Given the description of an element on the screen output the (x, y) to click on. 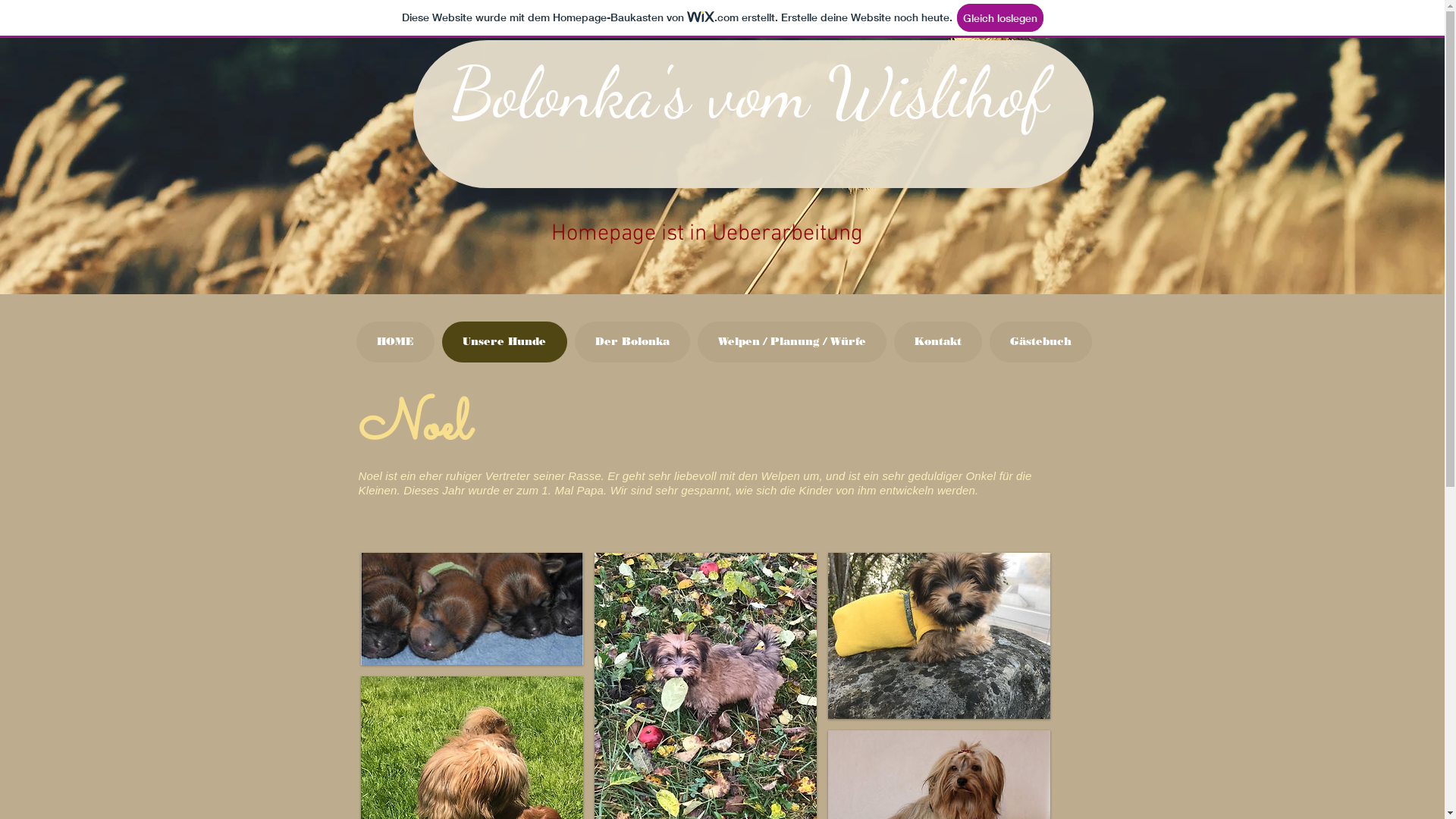
Kontakt Element type: text (937, 341)
Der Bolonka Element type: text (632, 341)
HOME Element type: text (395, 341)
Bolonka's vom Wislihof Element type: text (749, 92)
Unsere Hunde Element type: text (503, 341)
